Given the description of an element on the screen output the (x, y) to click on. 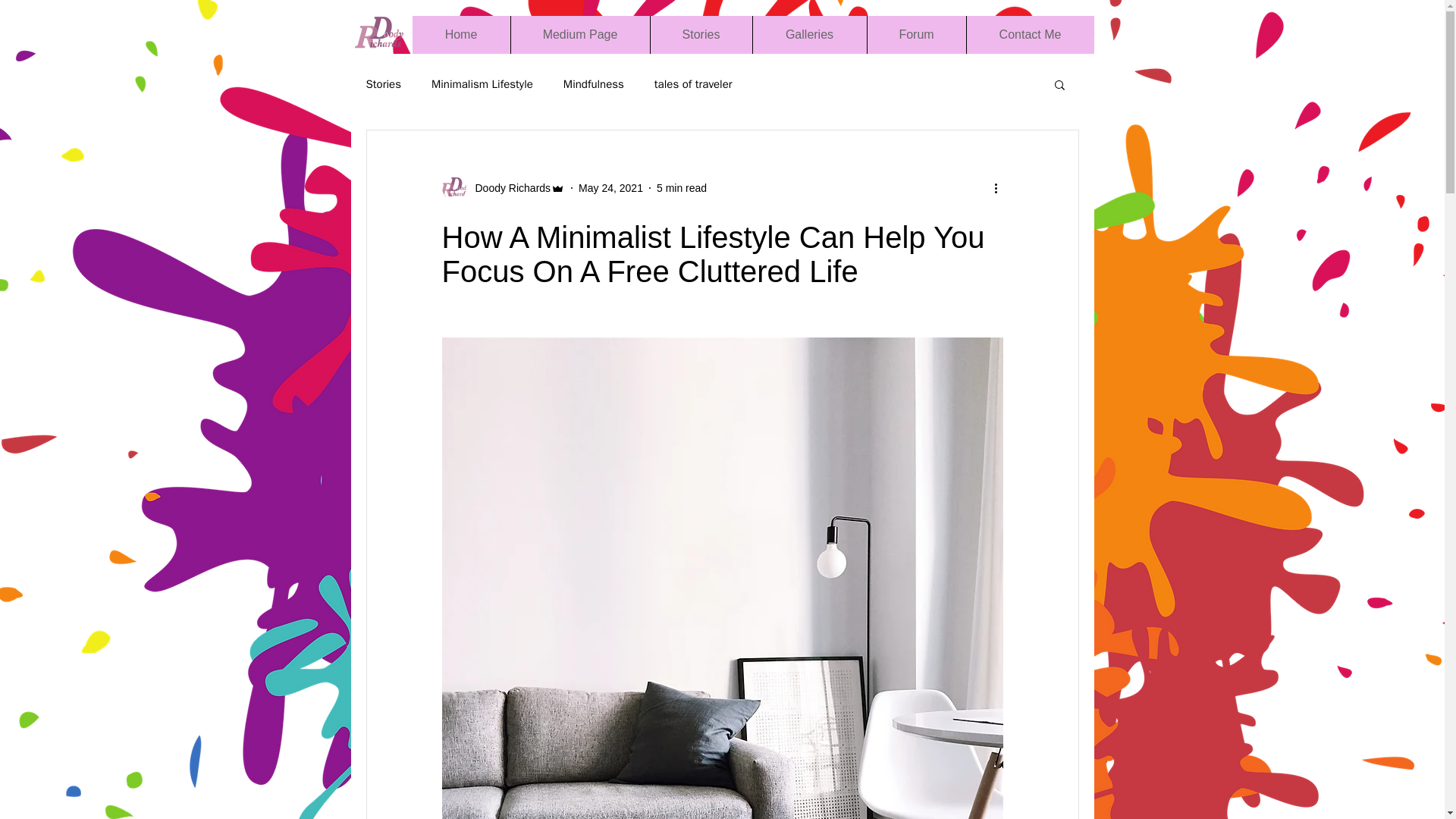
Contact Me (1030, 34)
Forum (915, 34)
Medium Page (579, 34)
Galleries (809, 34)
Mindfulness (593, 83)
Minimalism Lifestyle (481, 83)
Home (461, 34)
Doody Richards (502, 187)
May 24, 2021 (610, 187)
Stories (700, 34)
Stories (382, 83)
tales of traveler (692, 83)
5 min read (681, 187)
Doody Richards (507, 188)
